Given the description of an element on the screen output the (x, y) to click on. 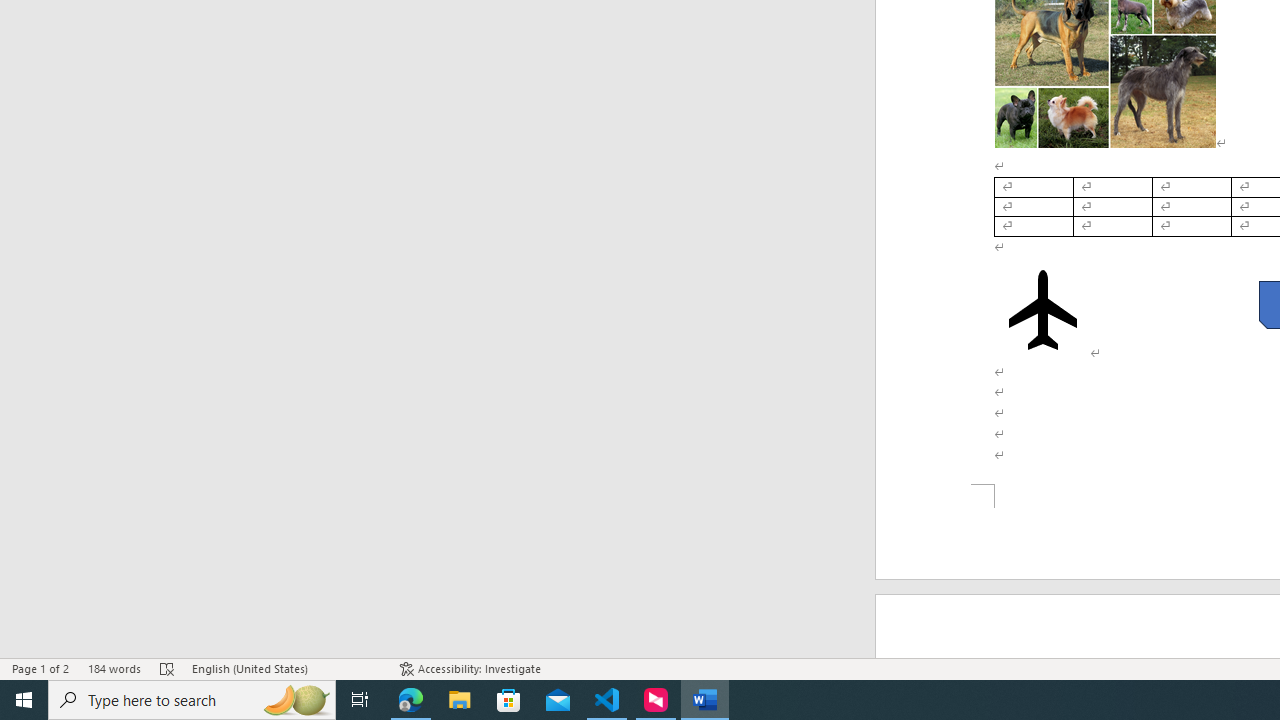
Spelling and Grammar Check Errors (168, 668)
Language English (United States) (286, 668)
Page Number Page 1 of 2 (39, 668)
Airplane with solid fill (1042, 309)
Accessibility Checker Accessibility: Investigate (470, 668)
